Given the description of an element on the screen output the (x, y) to click on. 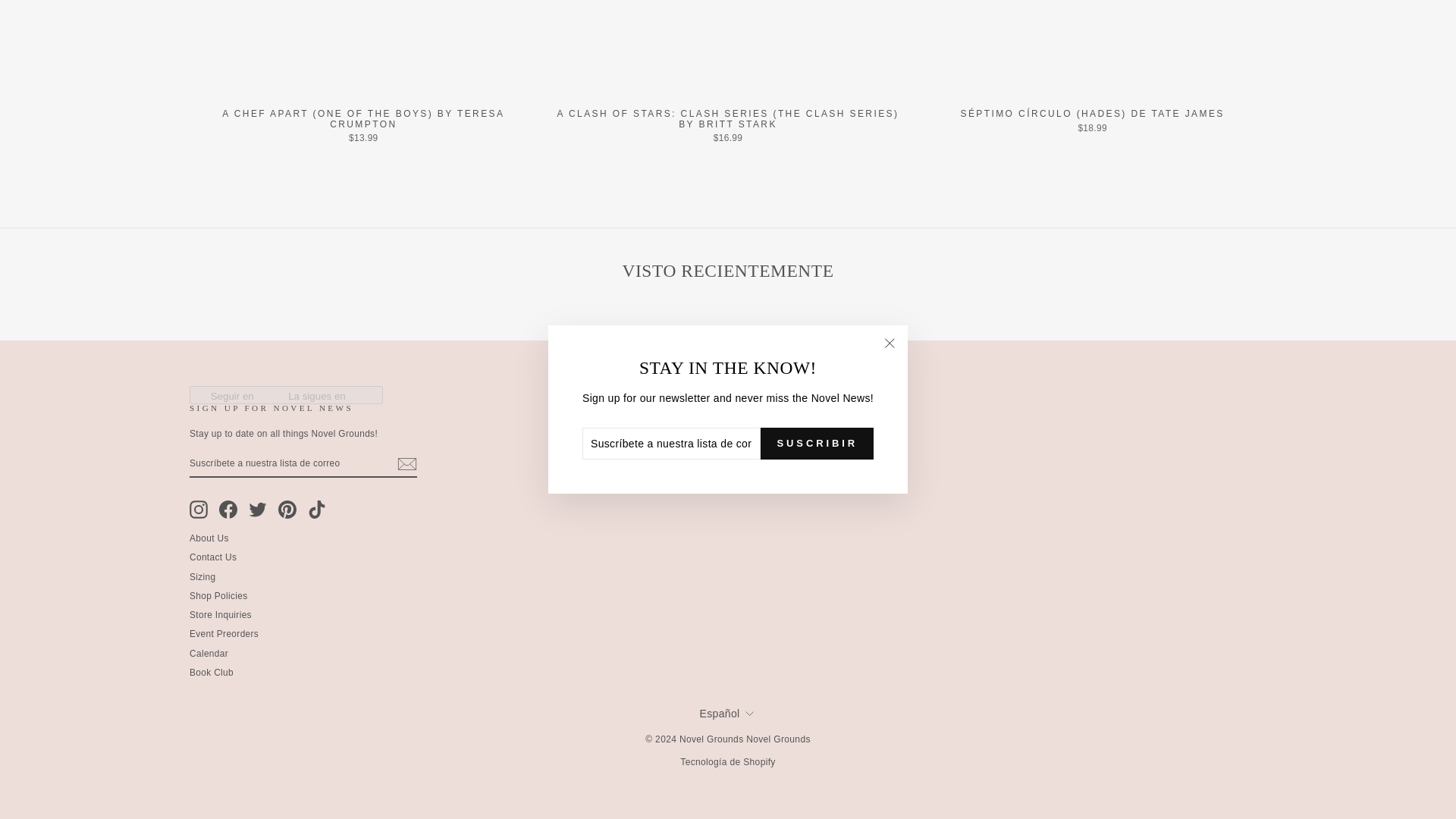
Novel Grounds en Instagram (198, 509)
Novel Grounds en Twitter (257, 509)
